Given the description of an element on the screen output the (x, y) to click on. 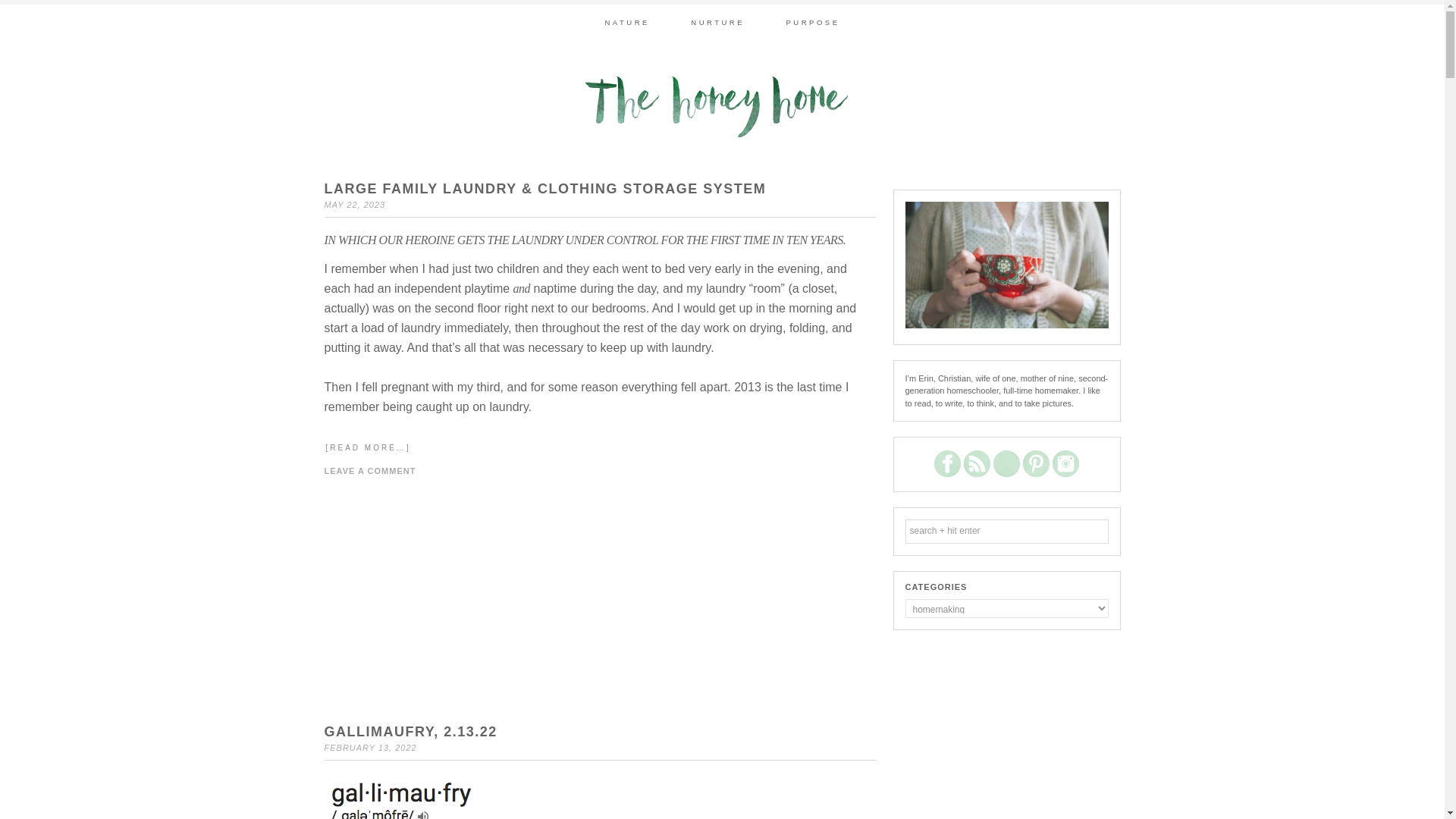
NURTURE (716, 22)
LEAVE A COMMENT (370, 470)
NATURE (626, 22)
THE HONEY HOME (721, 105)
PURPOSE (813, 22)
GALLIMAUFRY, 2.13.22 (410, 731)
